Given the description of an element on the screen output the (x, y) to click on. 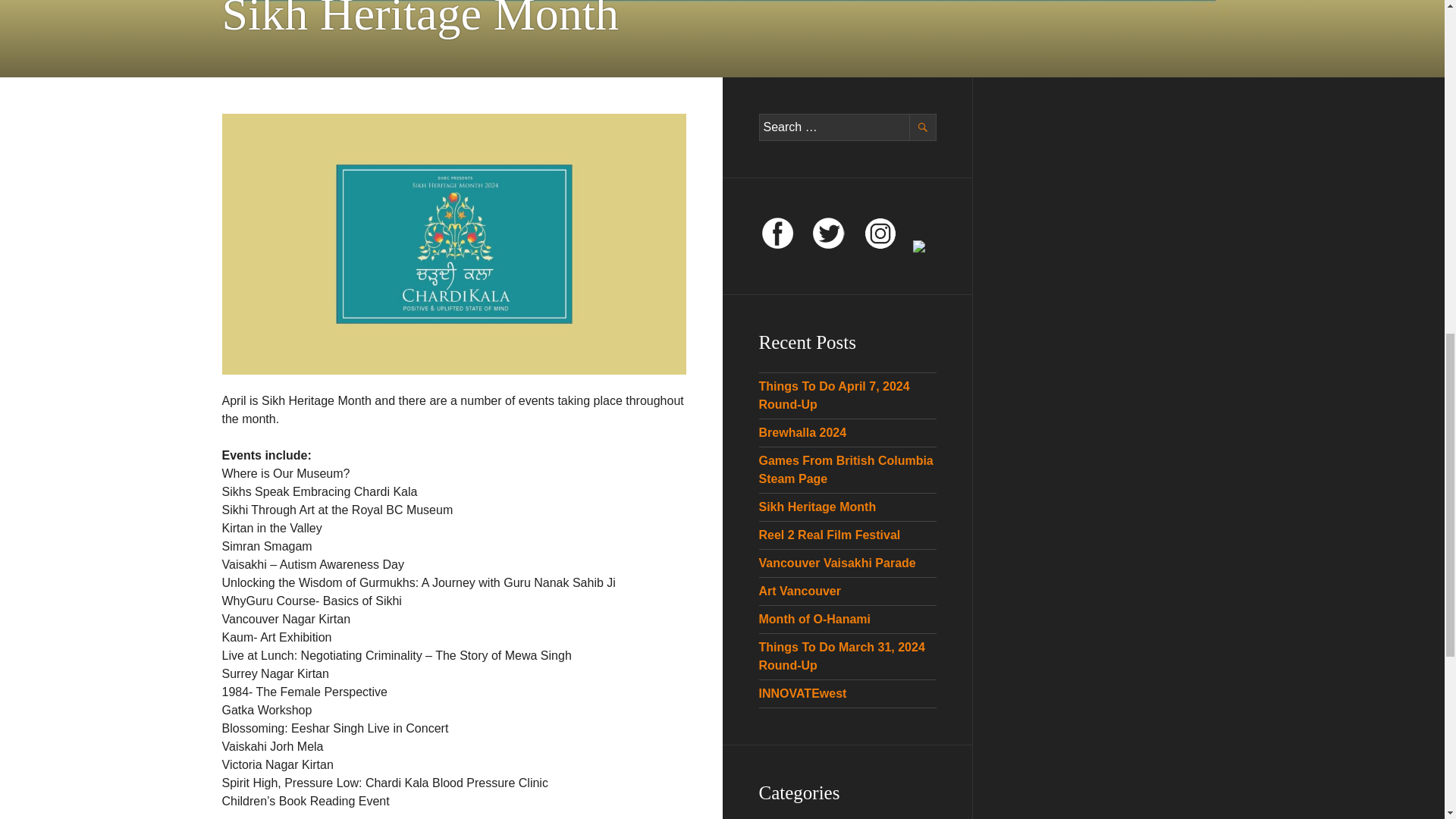
Things To Do April 7, 2024 Round-Up (833, 395)
Games From British Columbia Steam Page (845, 469)
Things To Do March 31, 2024 Round-Up (841, 655)
Vancouver Vaisakhi Parade (836, 562)
Search (922, 126)
Search (922, 126)
Brewhalla 2024 (801, 431)
Search (922, 126)
Sikh Heritage Month (817, 506)
Month of O-Hanami (814, 618)
